Given the description of an element on the screen output the (x, y) to click on. 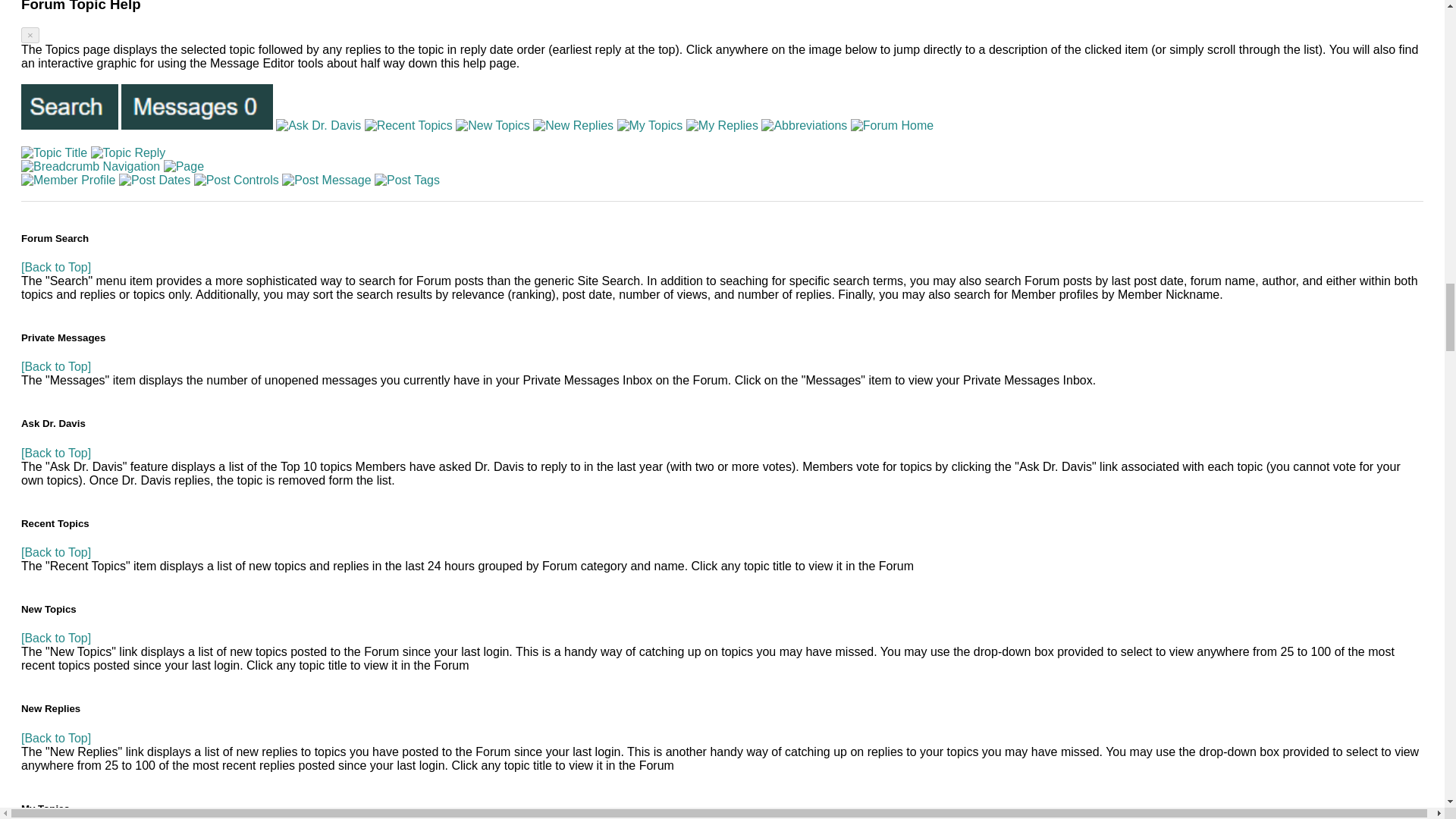
New Replies (572, 125)
Topic Reply (127, 152)
My Topics (649, 125)
Forum Search (69, 107)
Recent Topics (408, 125)
New Topics (492, 125)
Ask Dr. Davis (318, 125)
Topic Title (54, 152)
Private Messages (196, 107)
Abbreviations (804, 125)
My Replies (721, 125)
Forum Home (891, 125)
